Given the description of an element on the screen output the (x, y) to click on. 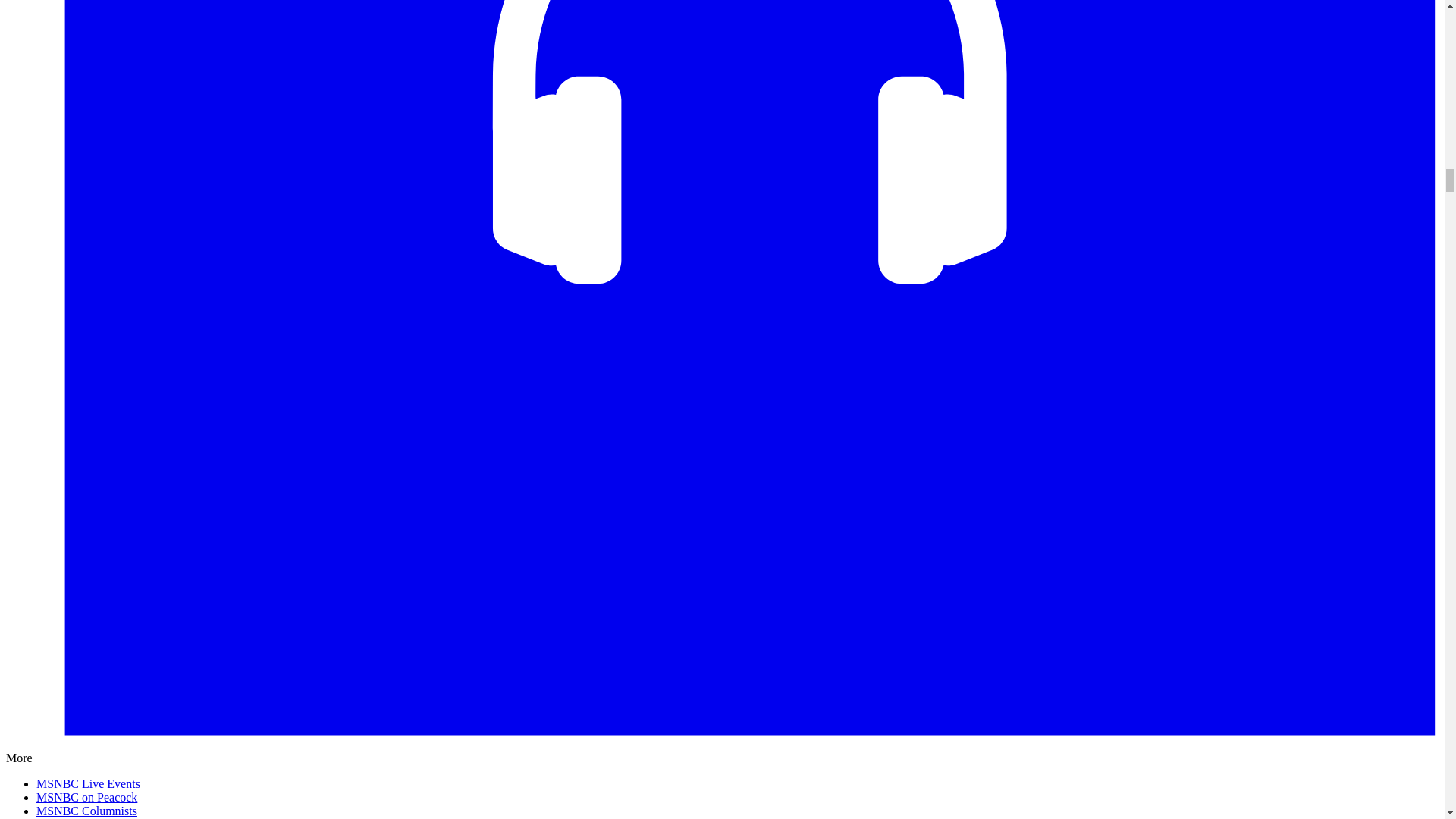
MSNBC Live Events (87, 783)
MSNBC on Peacock (86, 797)
